Given the description of an element on the screen output the (x, y) to click on. 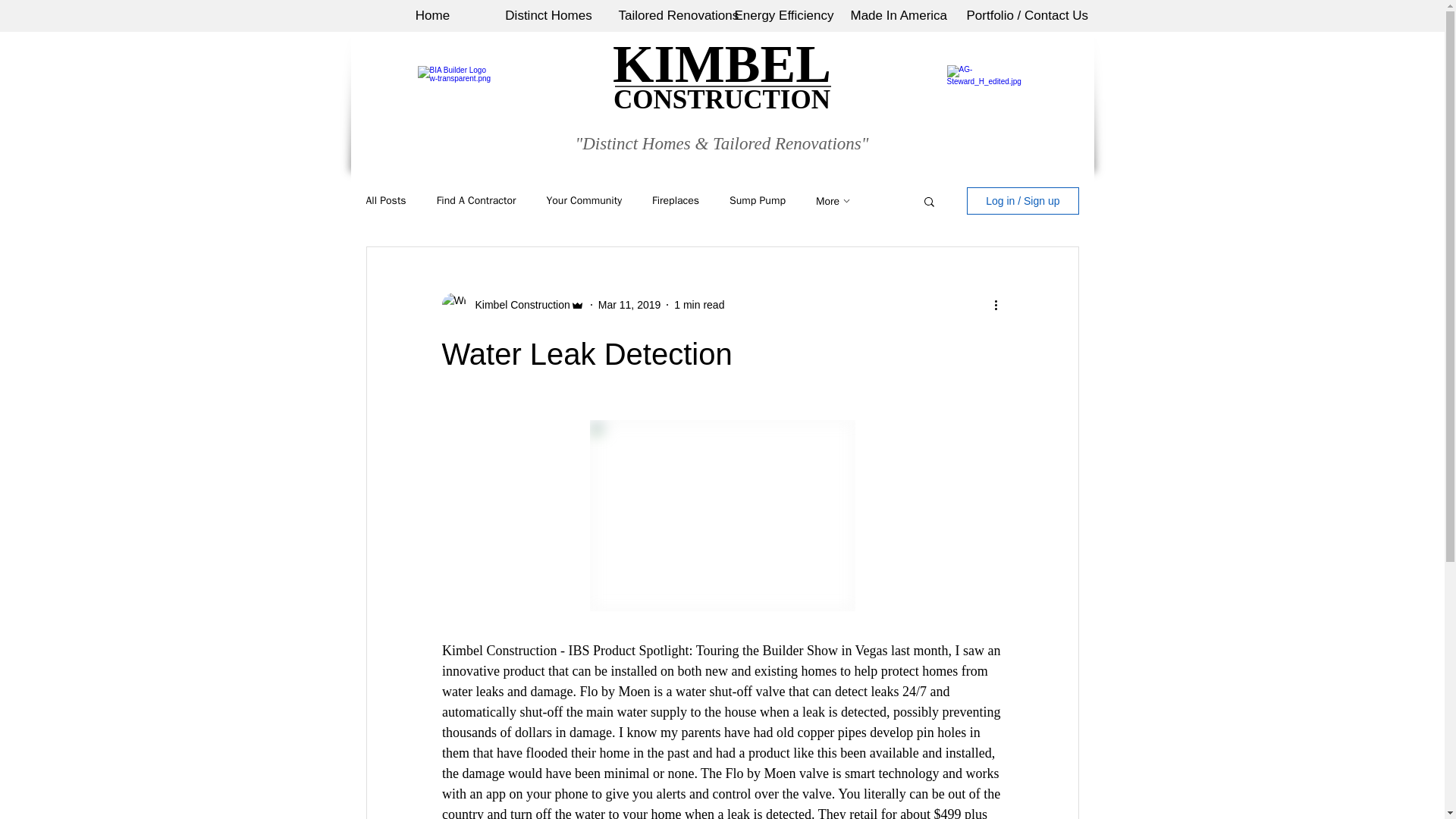
1 min read (698, 304)
Sump Pump (757, 201)
Tailored Renovations (664, 15)
Fireplaces (675, 201)
Home (432, 15)
Energy Efficiency (780, 15)
Find A Contractor (476, 201)
Your Community (583, 201)
Distinct Homes (547, 15)
All Posts (385, 201)
Mar 11, 2019 (629, 304)
Made In America (896, 15)
Kimbel Construction (517, 304)
